Given the description of an element on the screen output the (x, y) to click on. 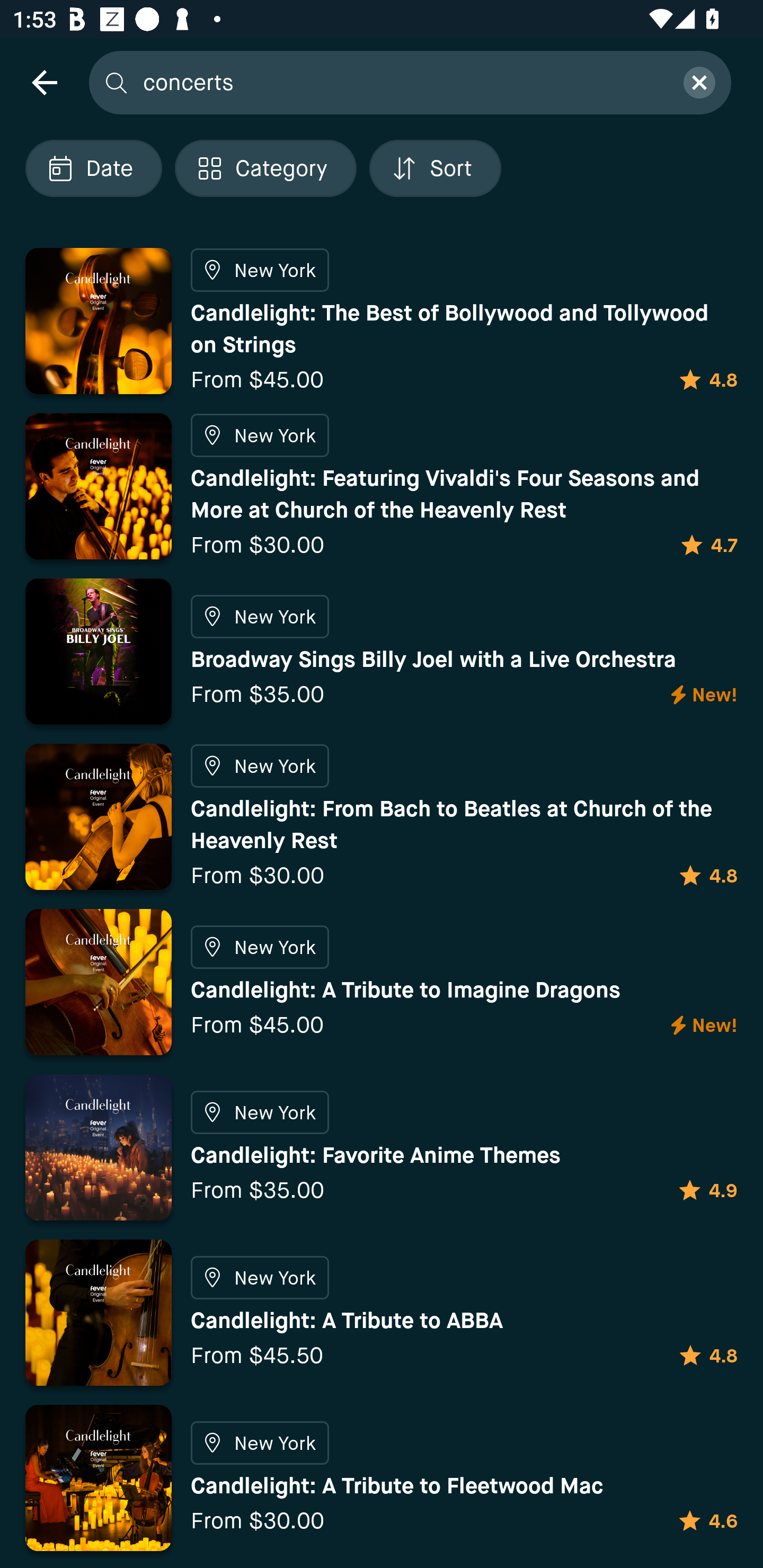
navigation icon (44, 81)
concerts (402, 81)
Localized description Date (93, 168)
Localized description Category (265, 168)
Localized description Sort (435, 168)
